Given the description of an element on the screen output the (x, y) to click on. 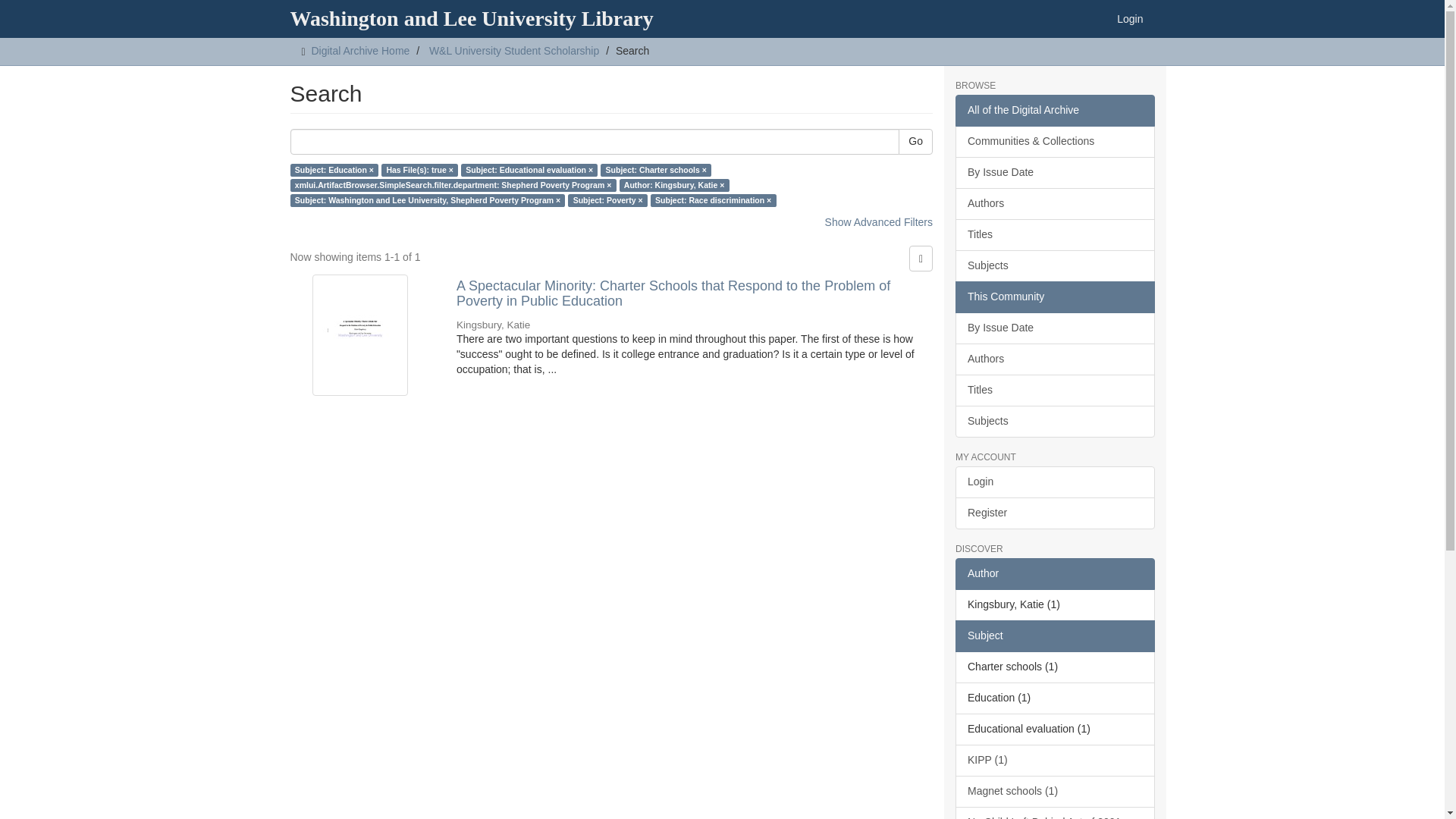
Digital Archive Home (360, 50)
Login (1129, 18)
Show Advanced Filters (879, 222)
Washington and Lee University Library (472, 18)
Go (915, 141)
